Given the description of an element on the screen output the (x, y) to click on. 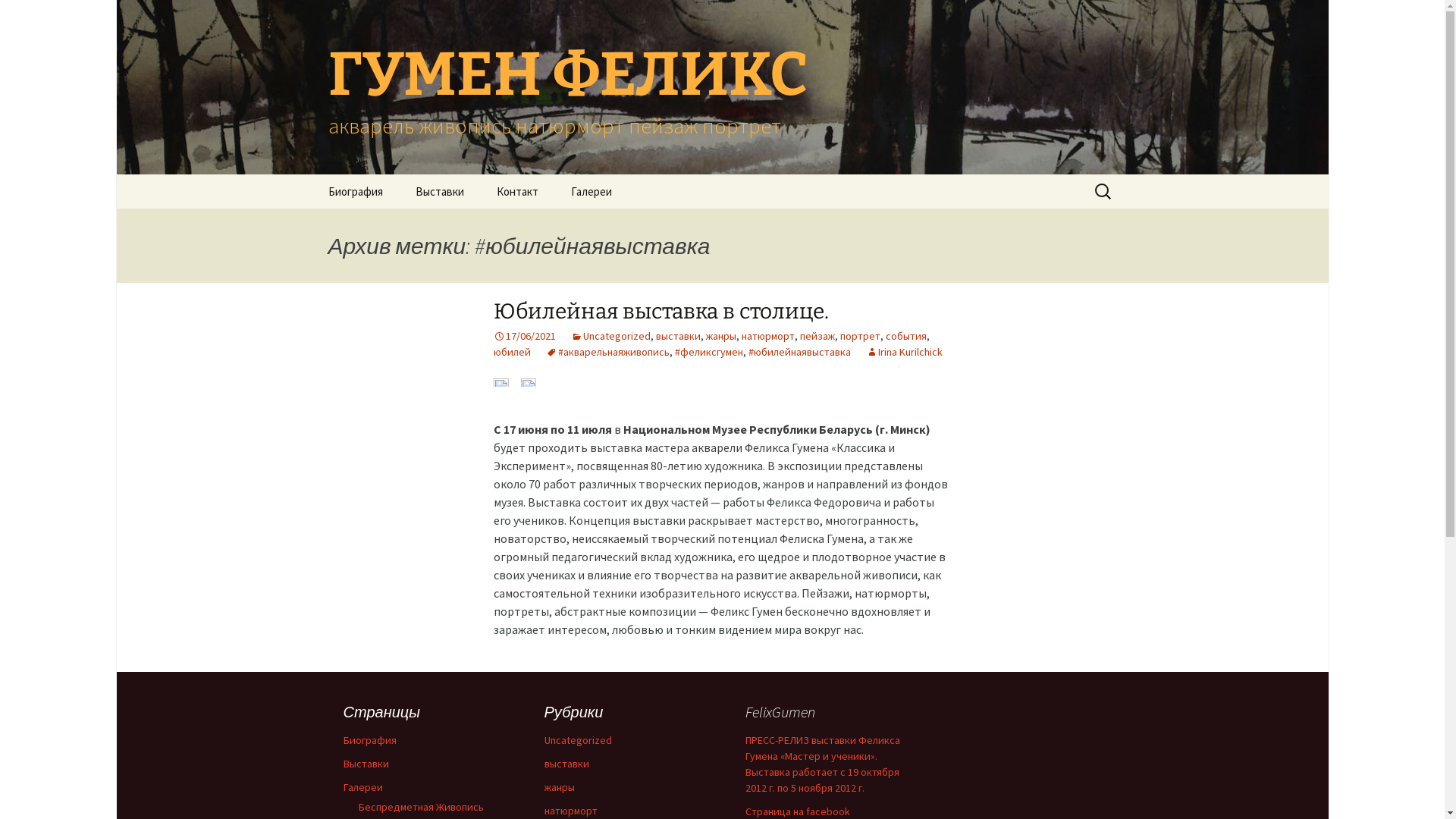
17/06/2021 Element type: text (523, 335)
Irina Kurilchick Element type: text (904, 351)
Uncategorized Element type: text (577, 739)
Uncategorized Element type: text (609, 335)
